Given the description of an element on the screen output the (x, y) to click on. 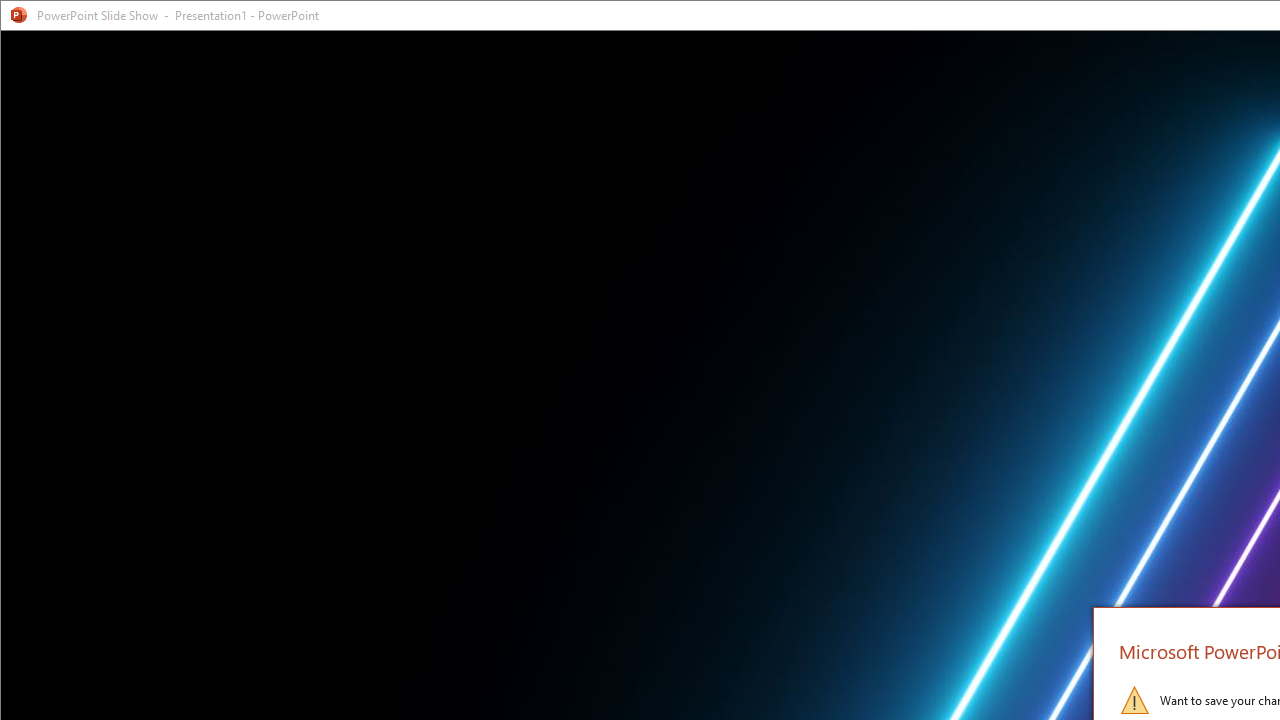
Warning Icon (1134, 699)
